Given the description of an element on the screen output the (x, y) to click on. 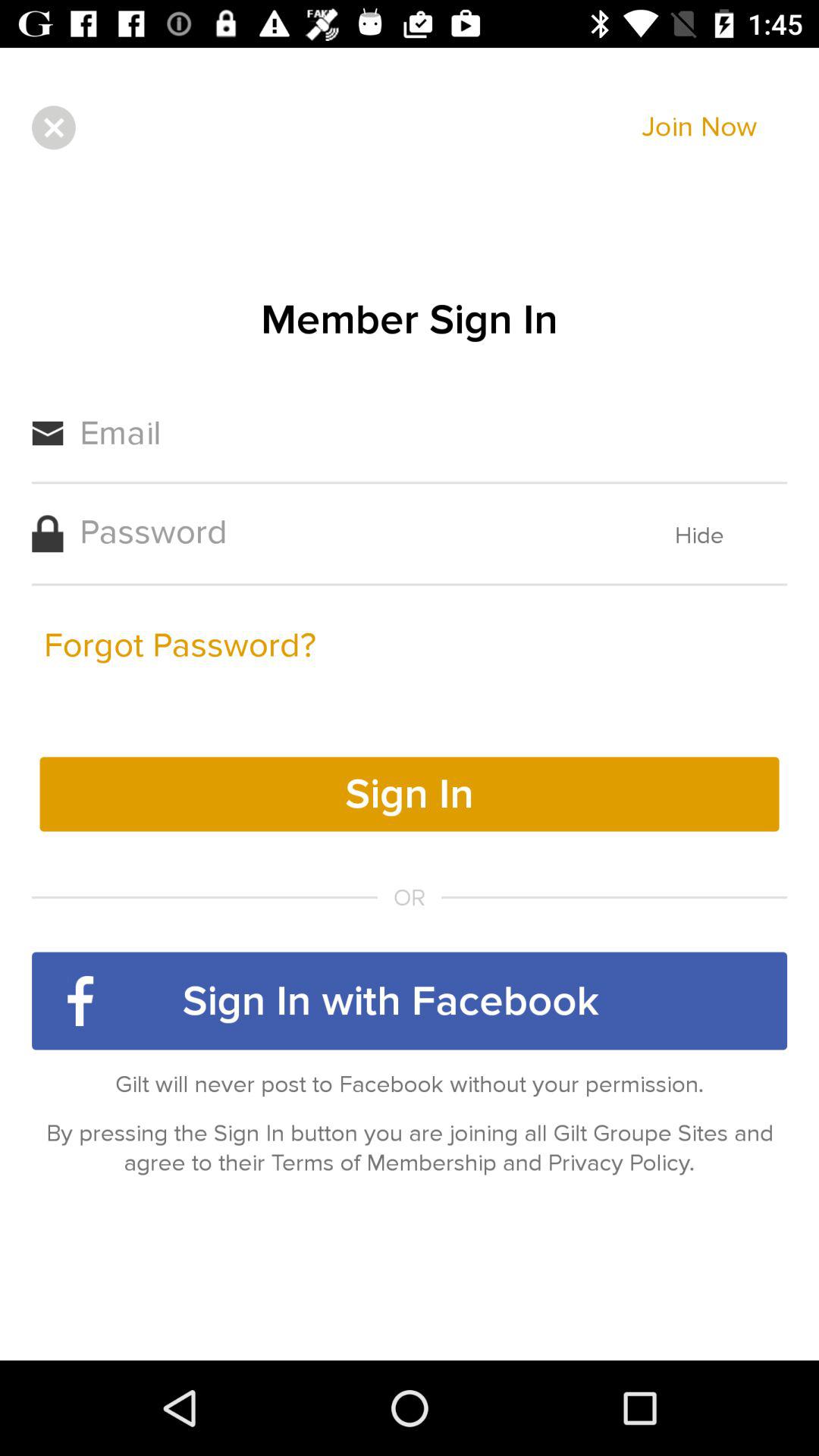
press item above the member sign in icon (699, 127)
